Given the description of an element on the screen output the (x, y) to click on. 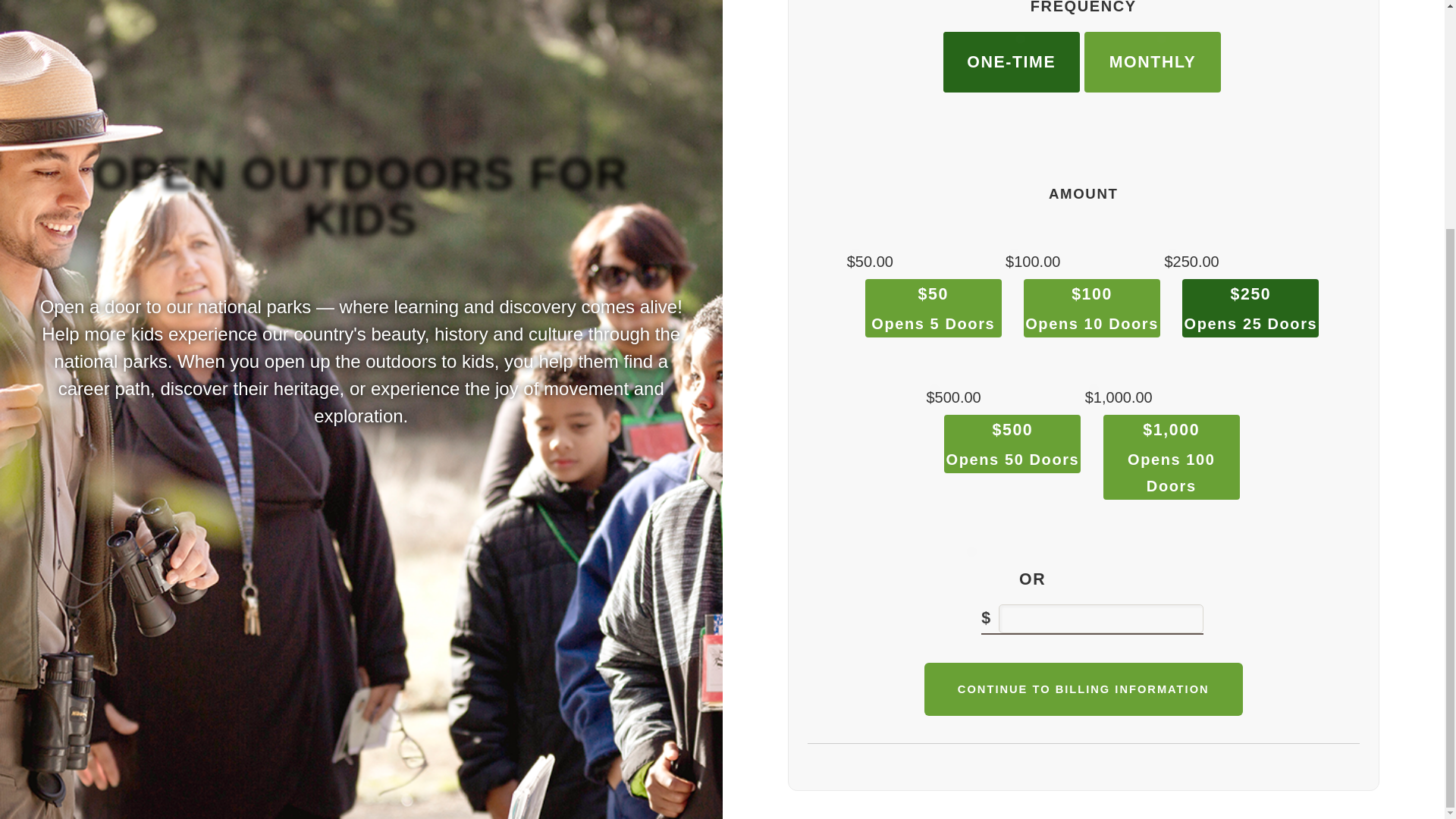
CONTINUE TO BILLING INFORMATION (1083, 688)
2756 (1014, 253)
2757 (1172, 253)
2758 (934, 388)
2 (1161, 39)
2759 (1094, 388)
1 (1019, 39)
2767 (971, 551)
2755 (855, 253)
